Given the description of an element on the screen output the (x, y) to click on. 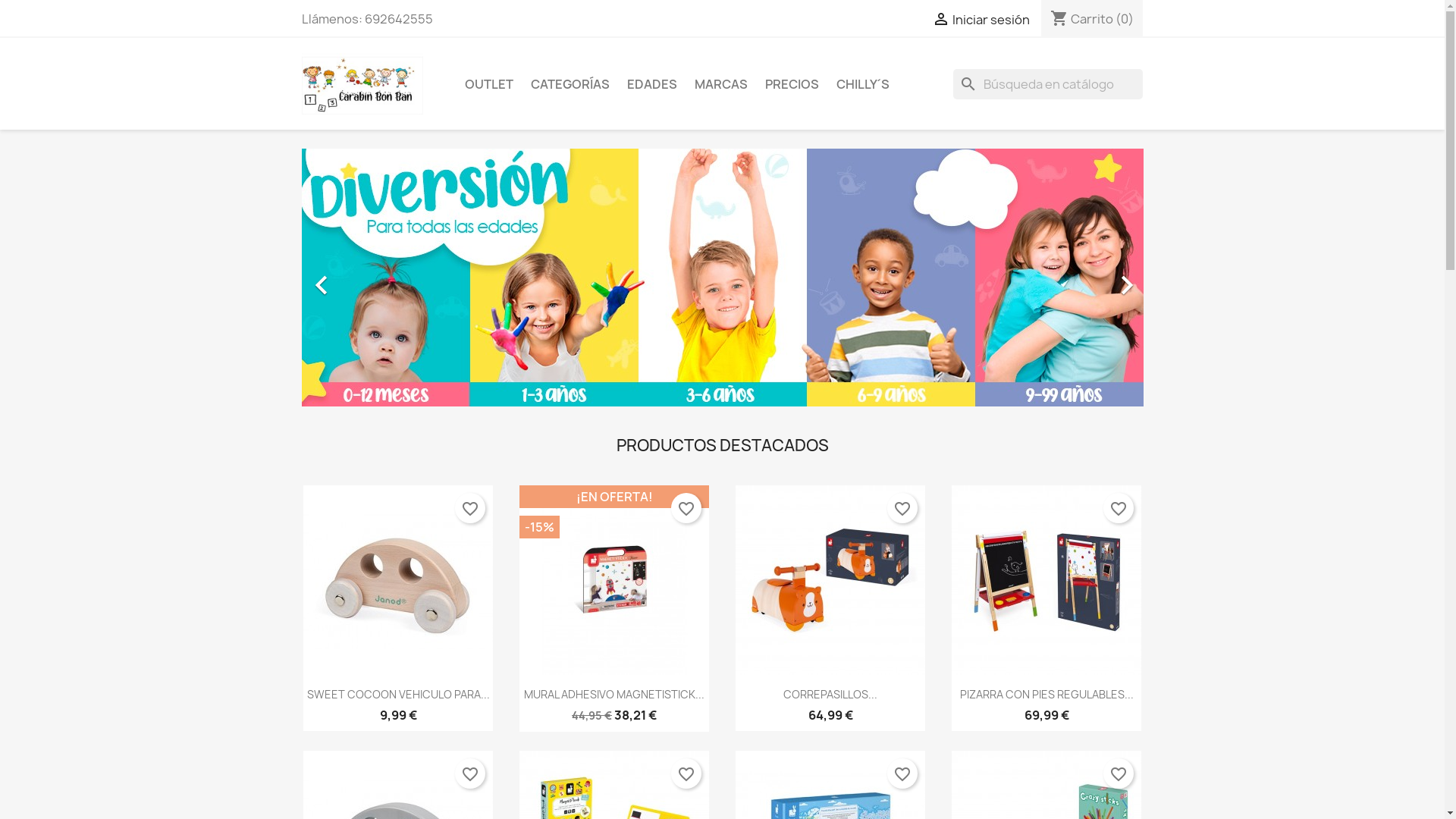
PRECIOS Element type: text (790, 84)
EDADES Element type: text (651, 84)
MARCAS Element type: text (721, 84)
favorite_border Element type: text (470, 507)
favorite_border Element type: text (686, 507)
OUTLET Element type: text (488, 84)
favorite_border Element type: text (1118, 507)
CORREPASILLOS... Element type: text (830, 694)
PIZARRA CON PIES REGULABLES... Element type: text (1046, 694)
favorite_border Element type: text (902, 773)
favorite_border Element type: text (686, 773)
favorite_border Element type: text (902, 507)
MURAL ADHESIVO MAGNETISTICK... Element type: text (614, 694)
favorite_border Element type: text (1118, 773)
favorite_border Element type: text (470, 773)
SWEET COCOON VEHICULO PARA... Element type: text (397, 694)
